Given the description of an element on the screen output the (x, y) to click on. 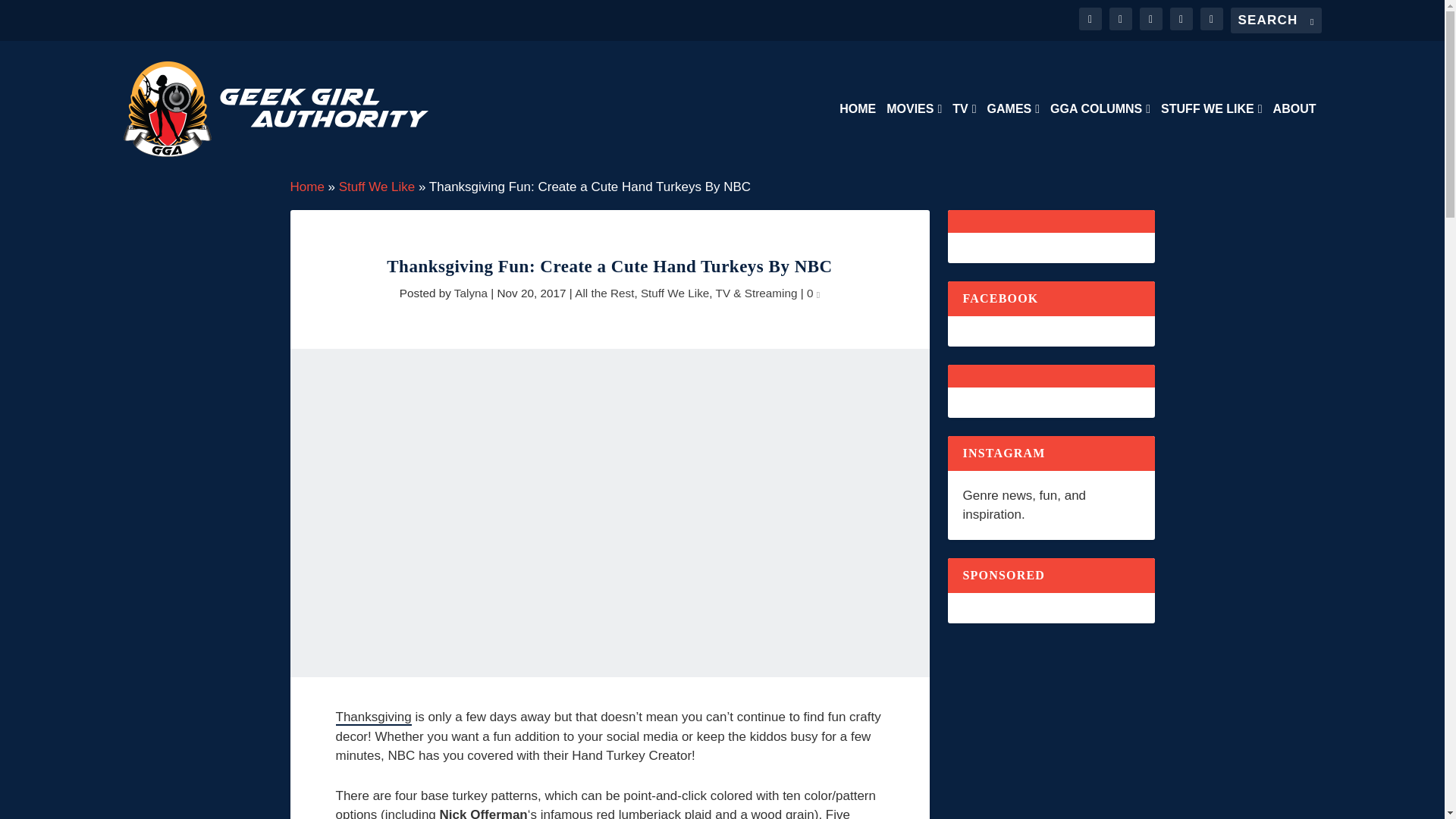
Search for: (1275, 20)
Posts by Talyna (470, 292)
GGA COLUMNS (1099, 140)
